Given the description of an element on the screen output the (x, y) to click on. 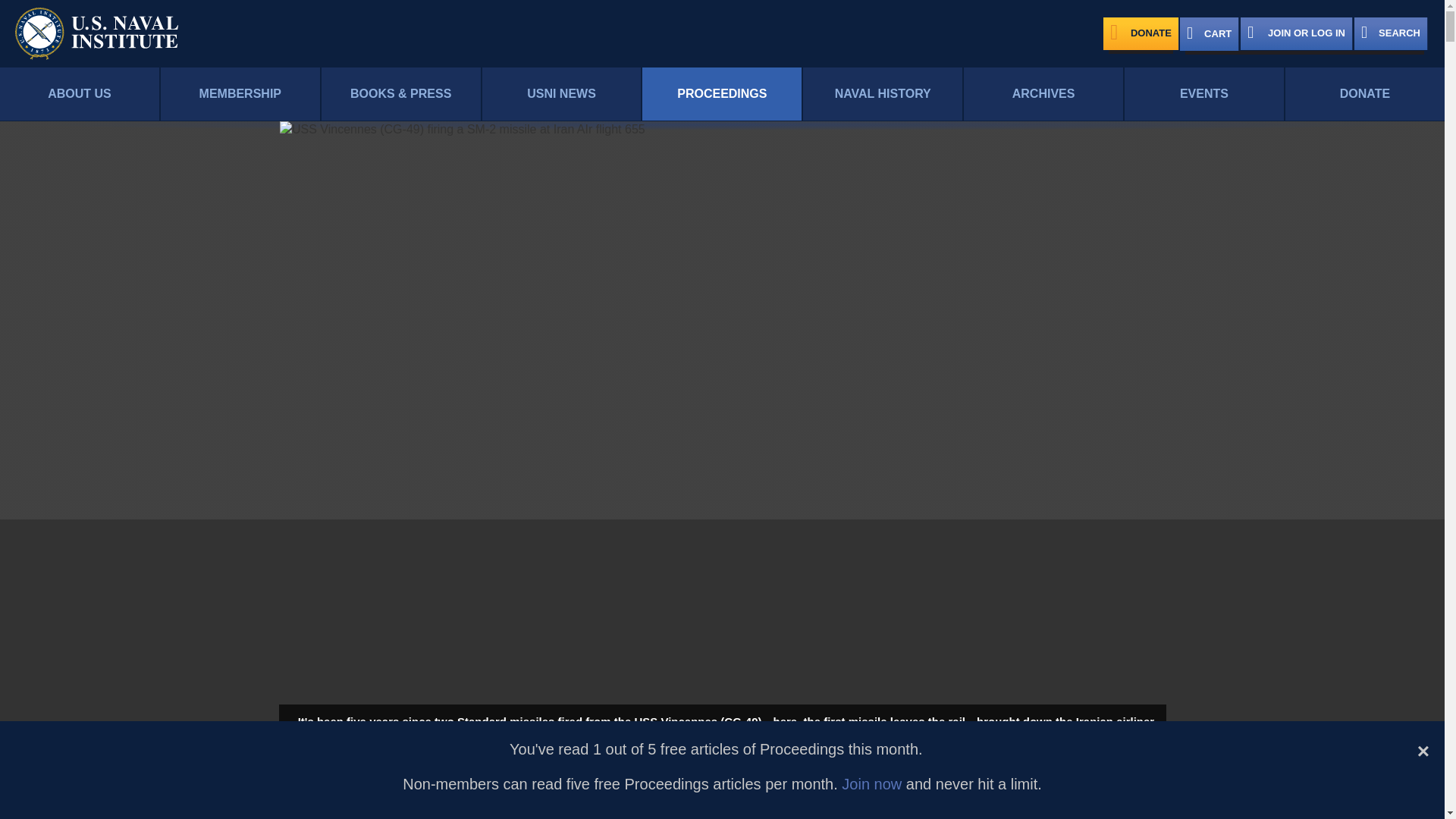
ARCHIVES (1042, 94)
Current Issue of Proceedings (499, 800)
PROCEEDINGS (722, 94)
JOIN OR LOG IN (1296, 33)
SEARCH (1391, 33)
MEMBERSHIP (240, 94)
American Sea Power Project (795, 800)
DONATE (1364, 94)
CART (1209, 33)
NAVAL HISTORY (882, 94)
DONATE (1141, 33)
ABOUT US (79, 94)
EVENTS (1204, 94)
USNI NEWS (561, 94)
